Given the description of an element on the screen output the (x, y) to click on. 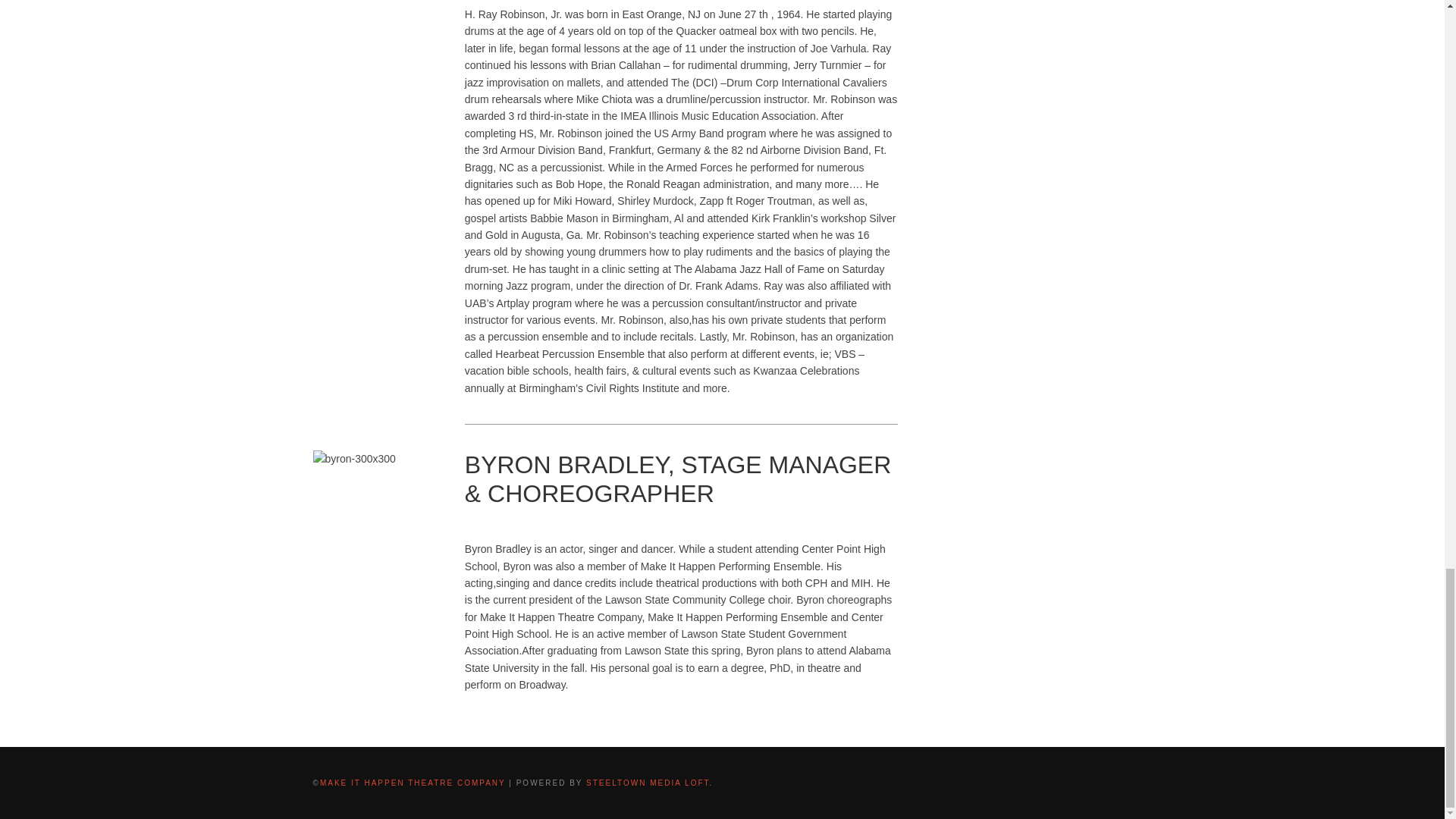
byron-300x300 (353, 458)
MAKE IT HAPPEN THEATRE COMPANY (412, 782)
STEELTOWN MEDIA LOFT (647, 782)
